Given the description of an element on the screen output the (x, y) to click on. 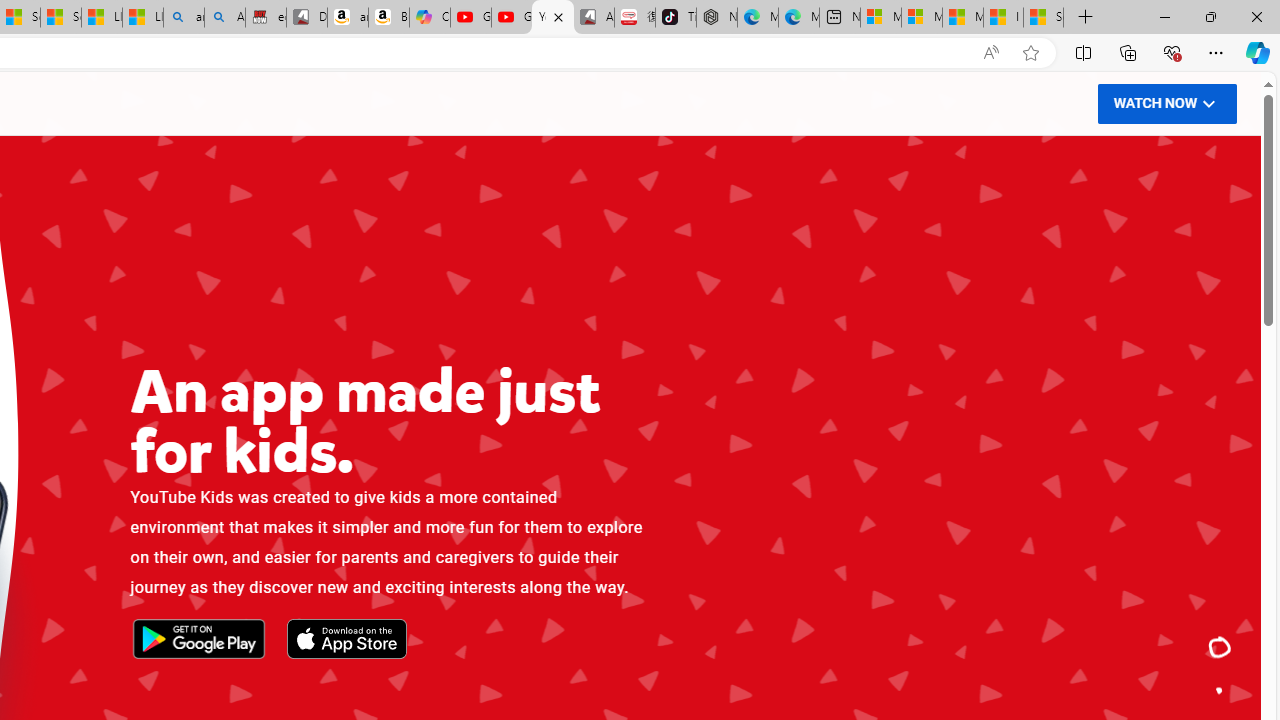
Class: ytk-dot-nav__dot (1219, 690)
Get it on Google Play (198, 639)
All Cubot phones (593, 17)
Nordace - Best Sellers (717, 17)
A safer online experience for kids. (1219, 690)
YouTube Kids - An App Created for Kids to Explore Content (552, 17)
amazon.in/dp/B0CX59H5W7/?tag=gsmcom05-21 (347, 17)
An app made just for kids. (1219, 647)
Amazon Echo Dot PNG - Search Images (224, 17)
